Given the description of an element on the screen output the (x, y) to click on. 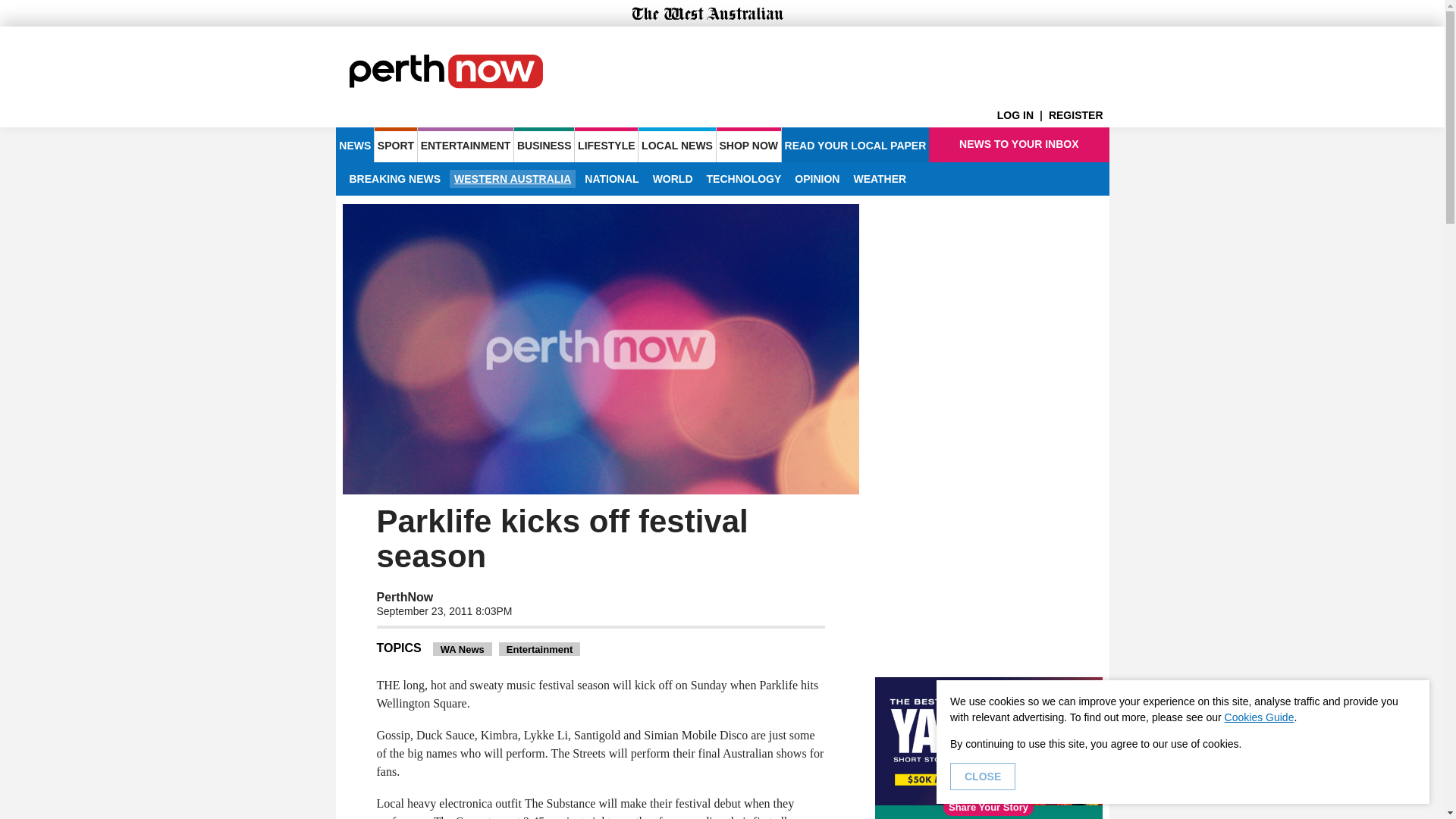
SPORT (395, 144)
ENTERTAINMENT (465, 144)
BUSINESS (543, 144)
LOG IN (1022, 115)
REGISTER (1078, 115)
NEWS (354, 144)
